Given the description of an element on the screen output the (x, y) to click on. 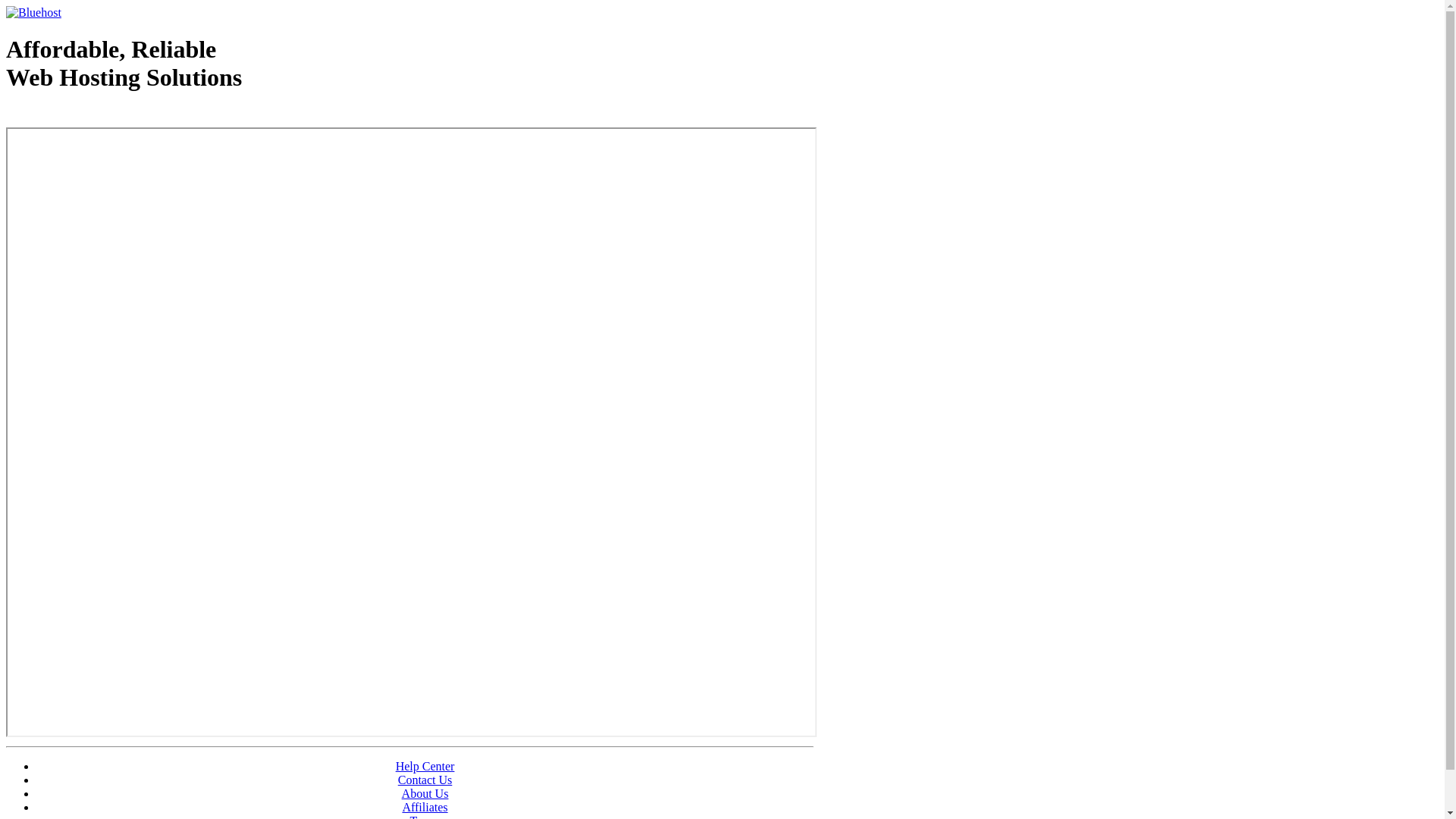
Contact Us Element type: text (425, 779)
About Us Element type: text (424, 793)
Web Hosting - courtesy of www.bluehost.com Element type: text (94, 115)
Affiliates Element type: text (424, 806)
Help Center Element type: text (425, 765)
